Given the description of an element on the screen output the (x, y) to click on. 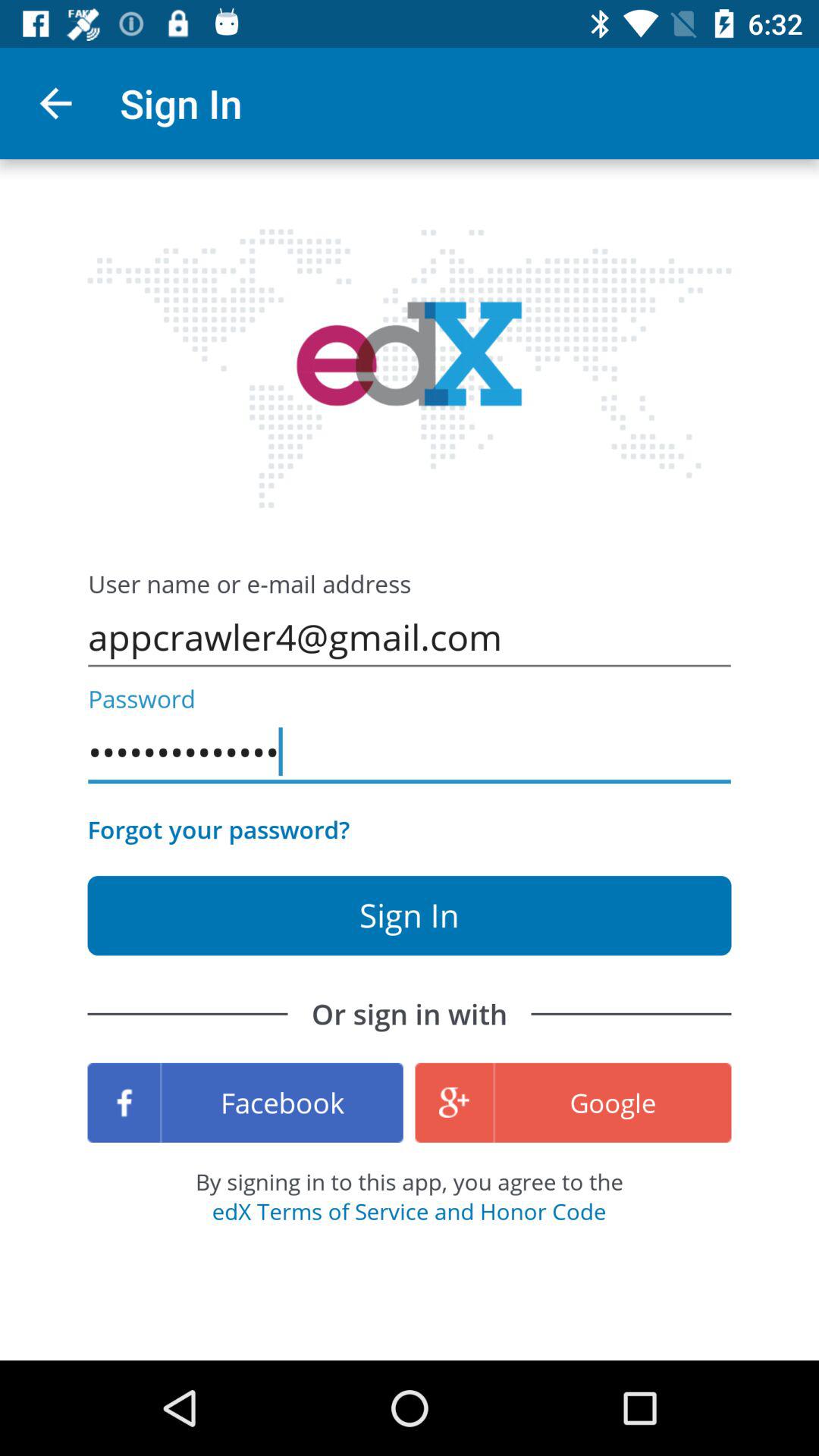
jump to appcrawler4@gmail.com item (409, 637)
